Given the description of an element on the screen output the (x, y) to click on. 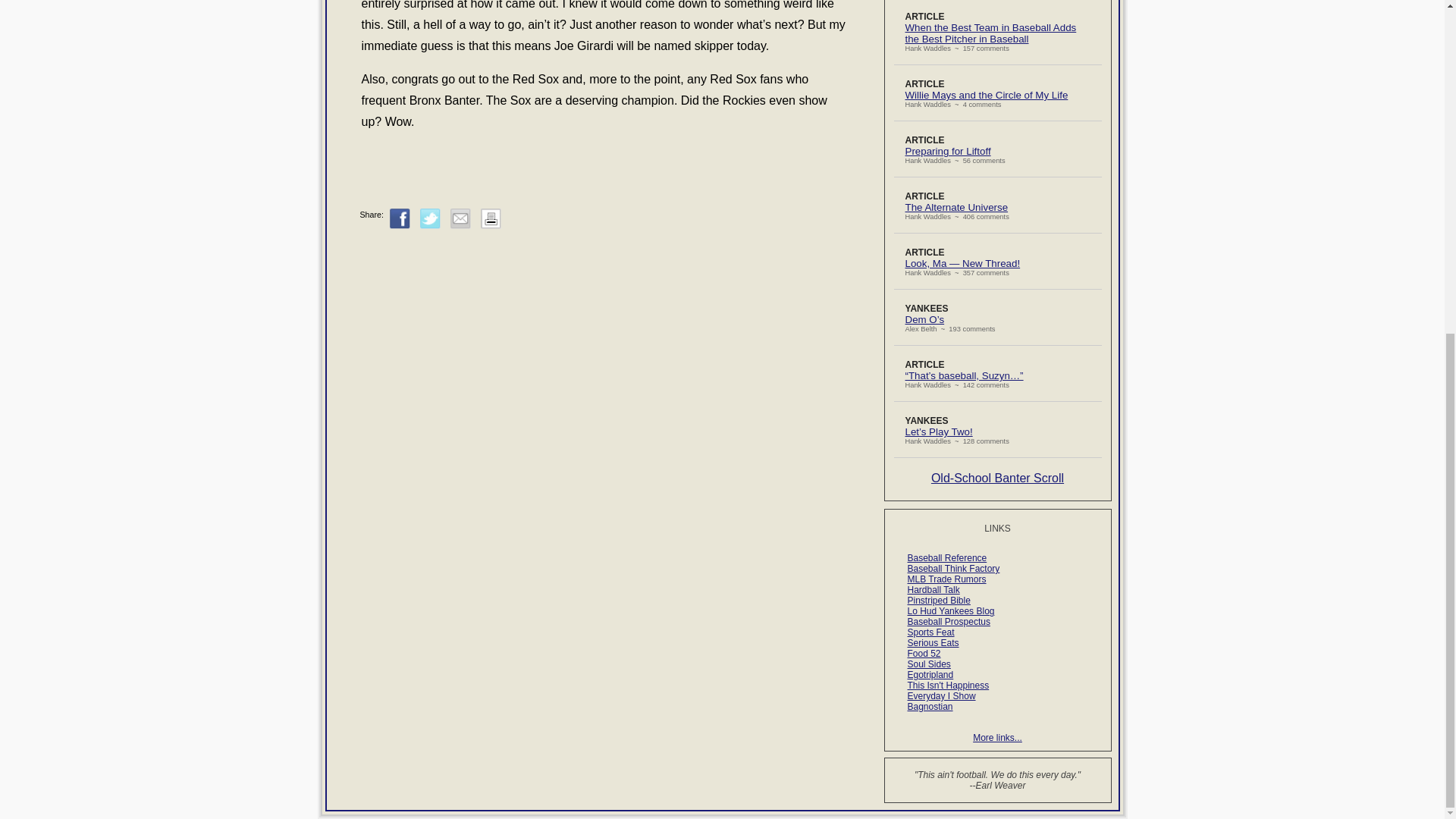
Share on Facebook (400, 218)
Permanent link to Preparing for Liftoff (948, 151)
Share via email (459, 218)
Print This Post (490, 225)
Share on Twitter (430, 218)
Permanent link to Willie Mays and the Circle of My Life (986, 94)
Permanent link to The Alternate Universe (957, 206)
Print This Post (490, 218)
